Given the description of an element on the screen output the (x, y) to click on. 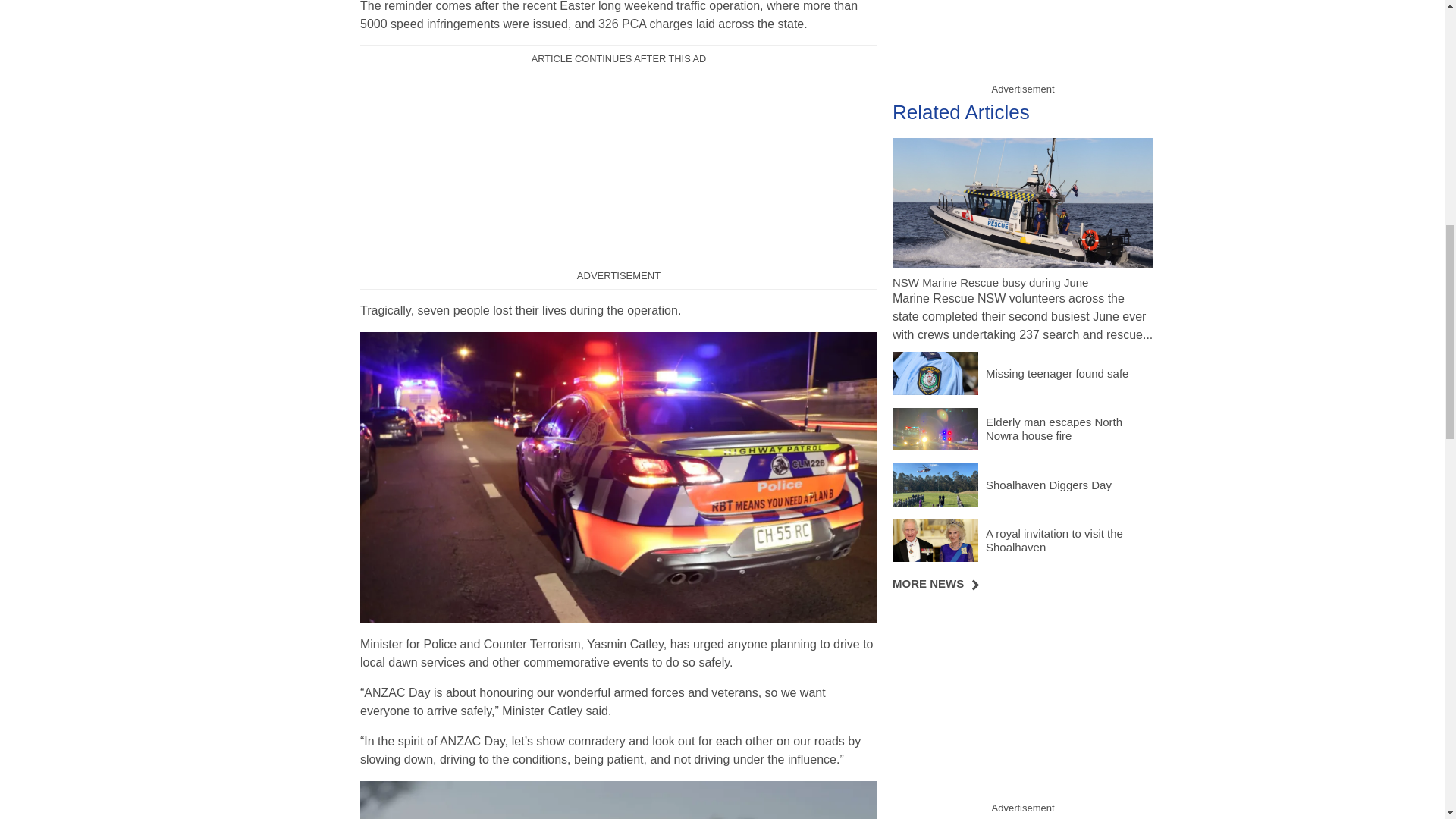
3rd party ad content (618, 168)
3rd party ad content (1022, 701)
3rd party ad content (1022, 38)
